Given the description of an element on the screen output the (x, y) to click on. 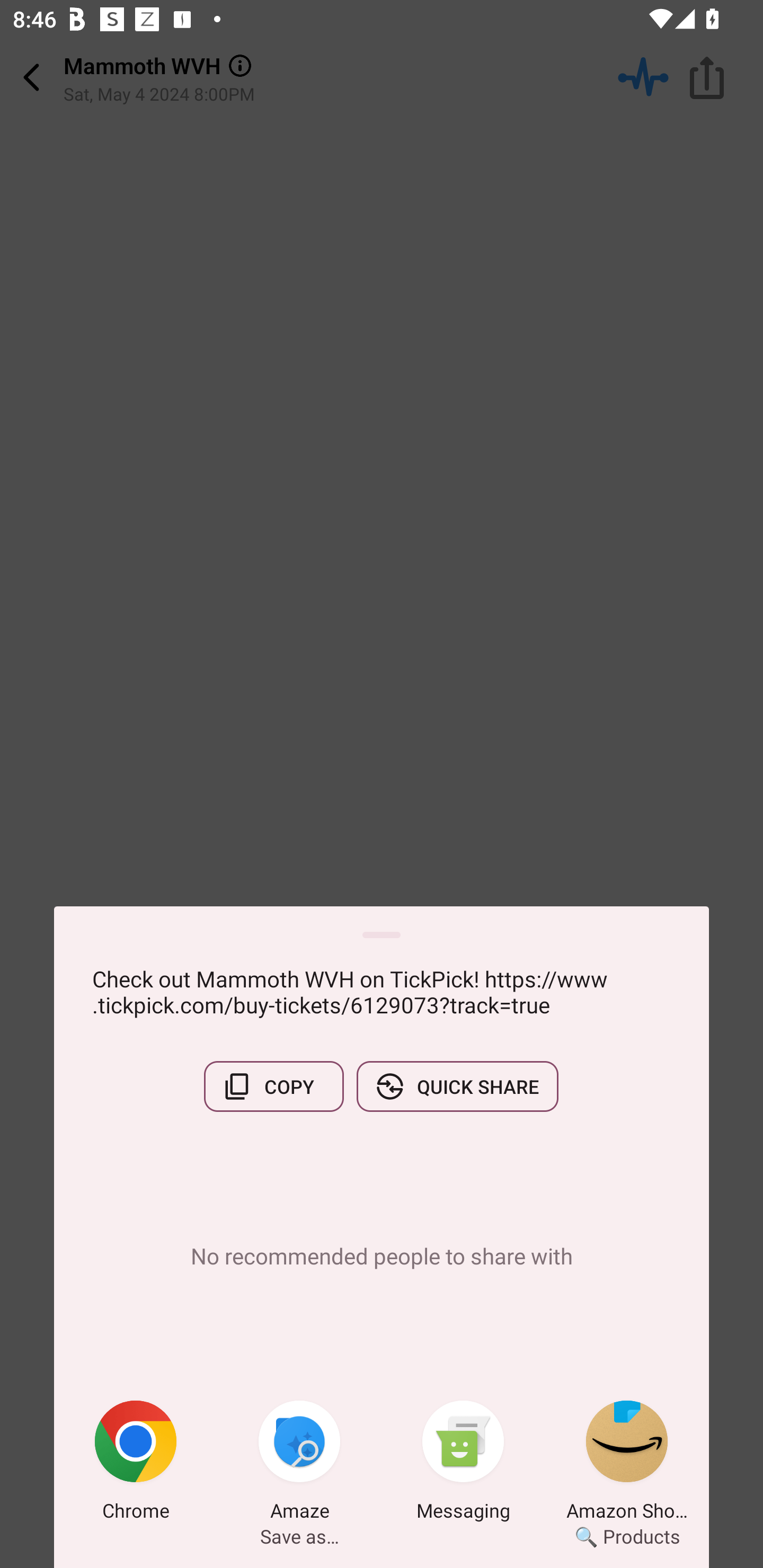
COPY (273, 1086)
QUICK SHARE (457, 1086)
Chrome (135, 1463)
Amaze Save as… (299, 1463)
Messaging (463, 1463)
Amazon Shopping 🔍 Products (626, 1463)
